Given the description of an element on the screen output the (x, y) to click on. 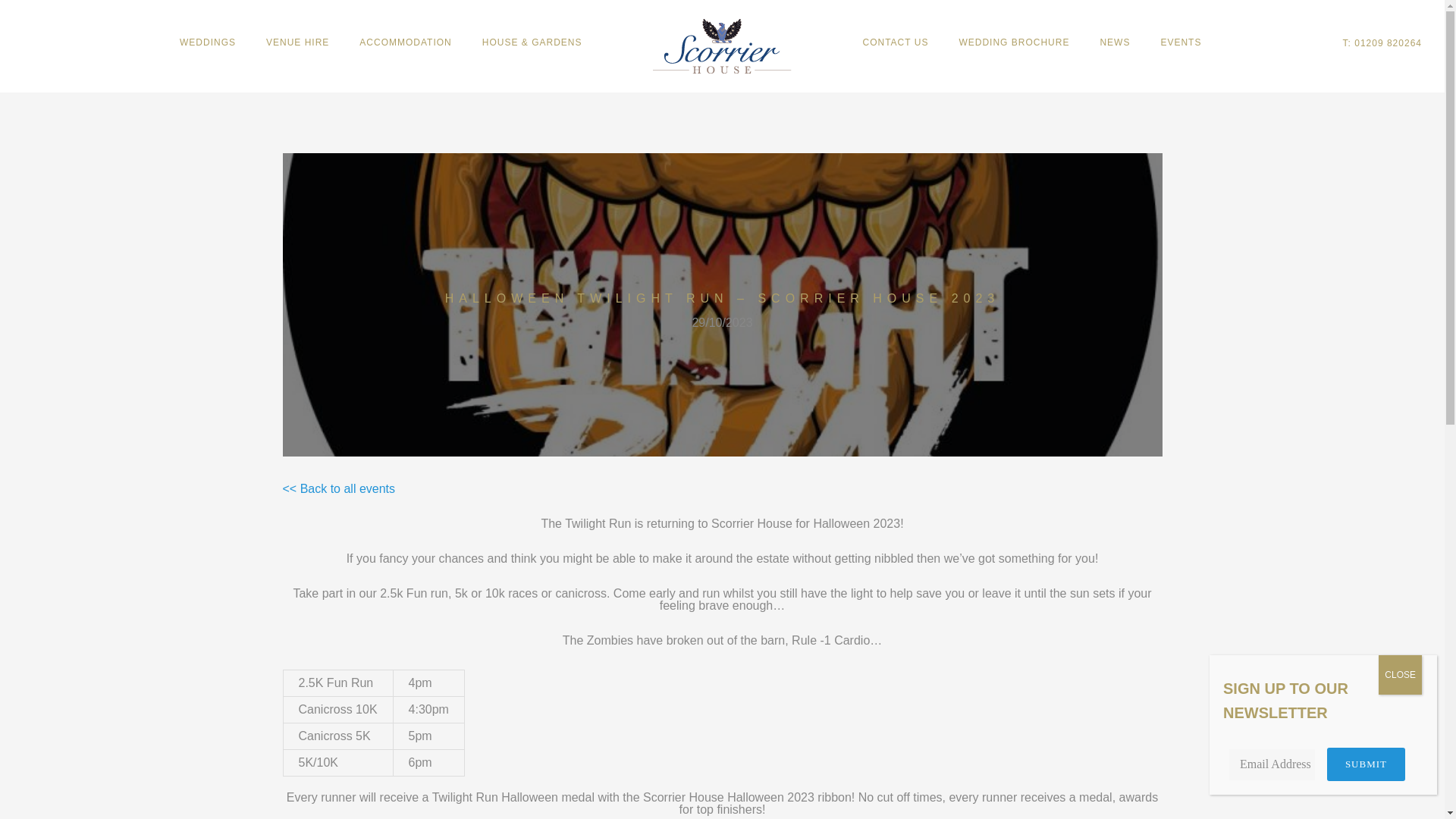
WEDDINGS (207, 41)
Weddings (207, 41)
NEWS (1114, 41)
Venue Hire (296, 41)
ACCOMMODATION (404, 41)
CONTACT US (895, 41)
Submit (1365, 764)
EVENTS (1179, 41)
WEDDING BROCHURE (1013, 41)
VENUE HIRE (296, 41)
